Given the description of an element on the screen output the (x, y) to click on. 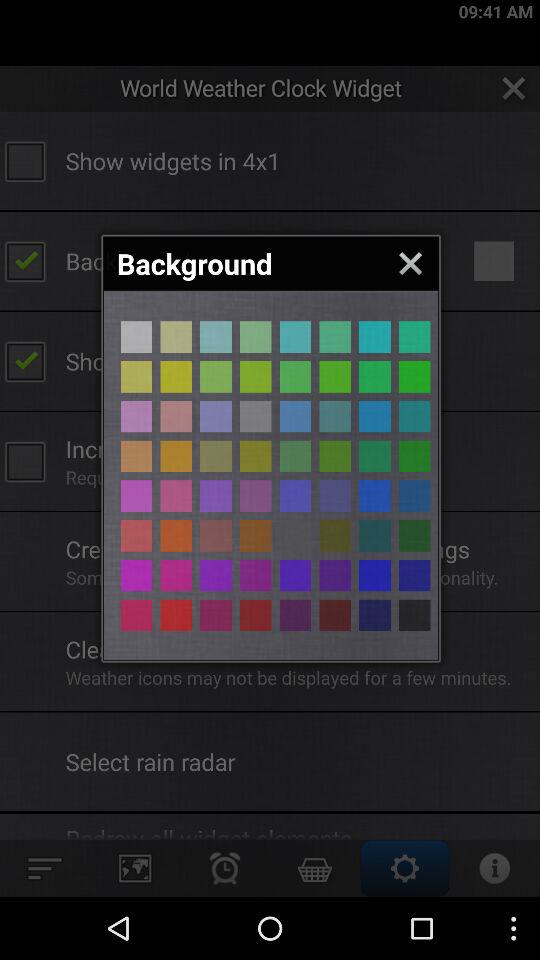
color selection (374, 495)
